Given the description of an element on the screen output the (x, y) to click on. 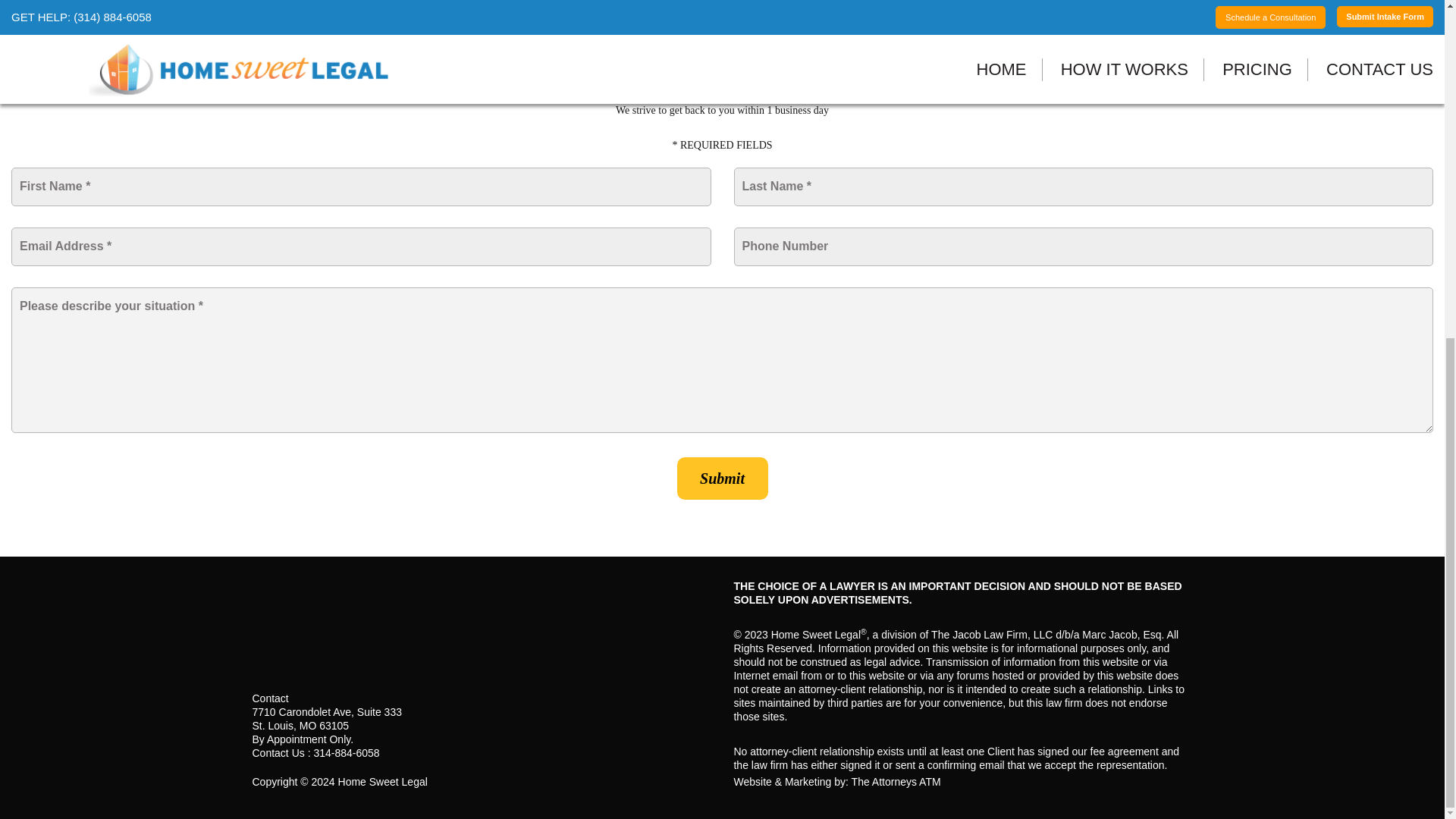
The Attorneys ATM (895, 781)
Submit (722, 478)
Submit (722, 478)
